Given the description of an element on the screen output the (x, y) to click on. 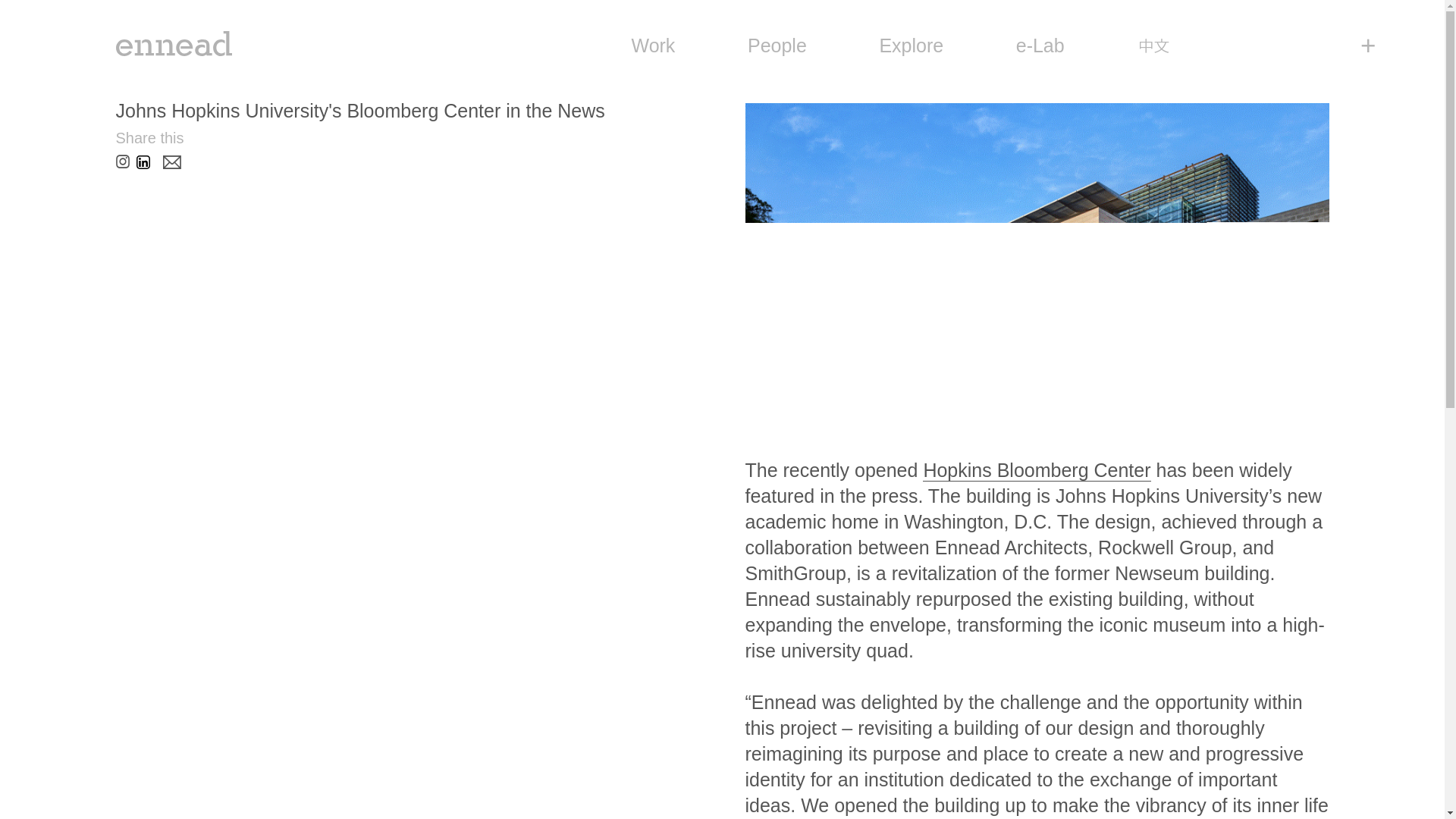
Work (652, 45)
ennead (173, 41)
People (777, 45)
Hopkins Bloomberg Center (1036, 470)
e-Lab (1040, 45)
Explore (911, 45)
